Given the description of an element on the screen output the (x, y) to click on. 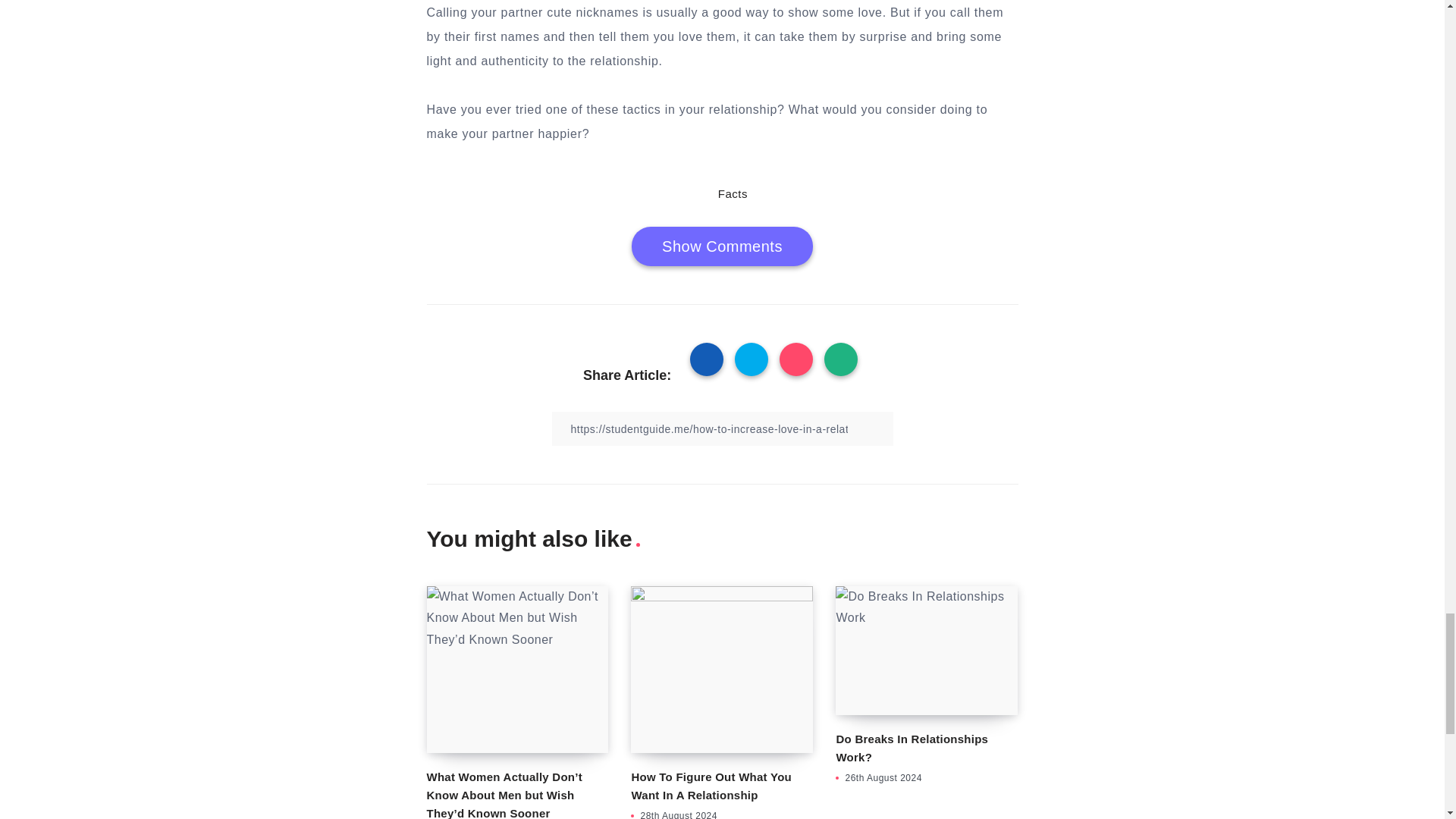
How To Figure Out What You Want In A Relationship (710, 785)
Do Breaks In Relationships Work? (911, 747)
Facts (732, 193)
Show Comments (721, 246)
